Given the description of an element on the screen output the (x, y) to click on. 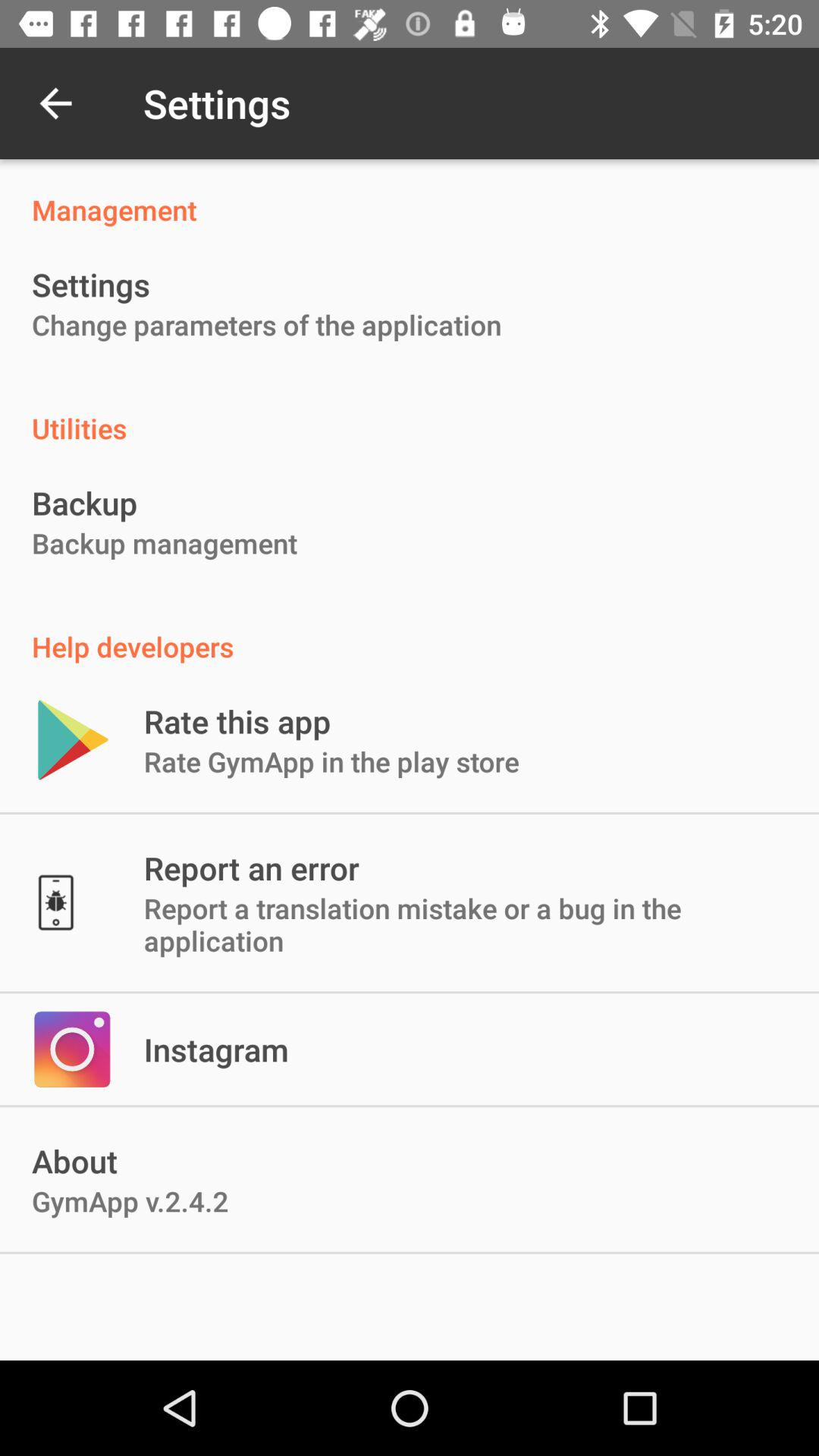
flip to report an error icon (251, 867)
